Given the description of an element on the screen output the (x, y) to click on. 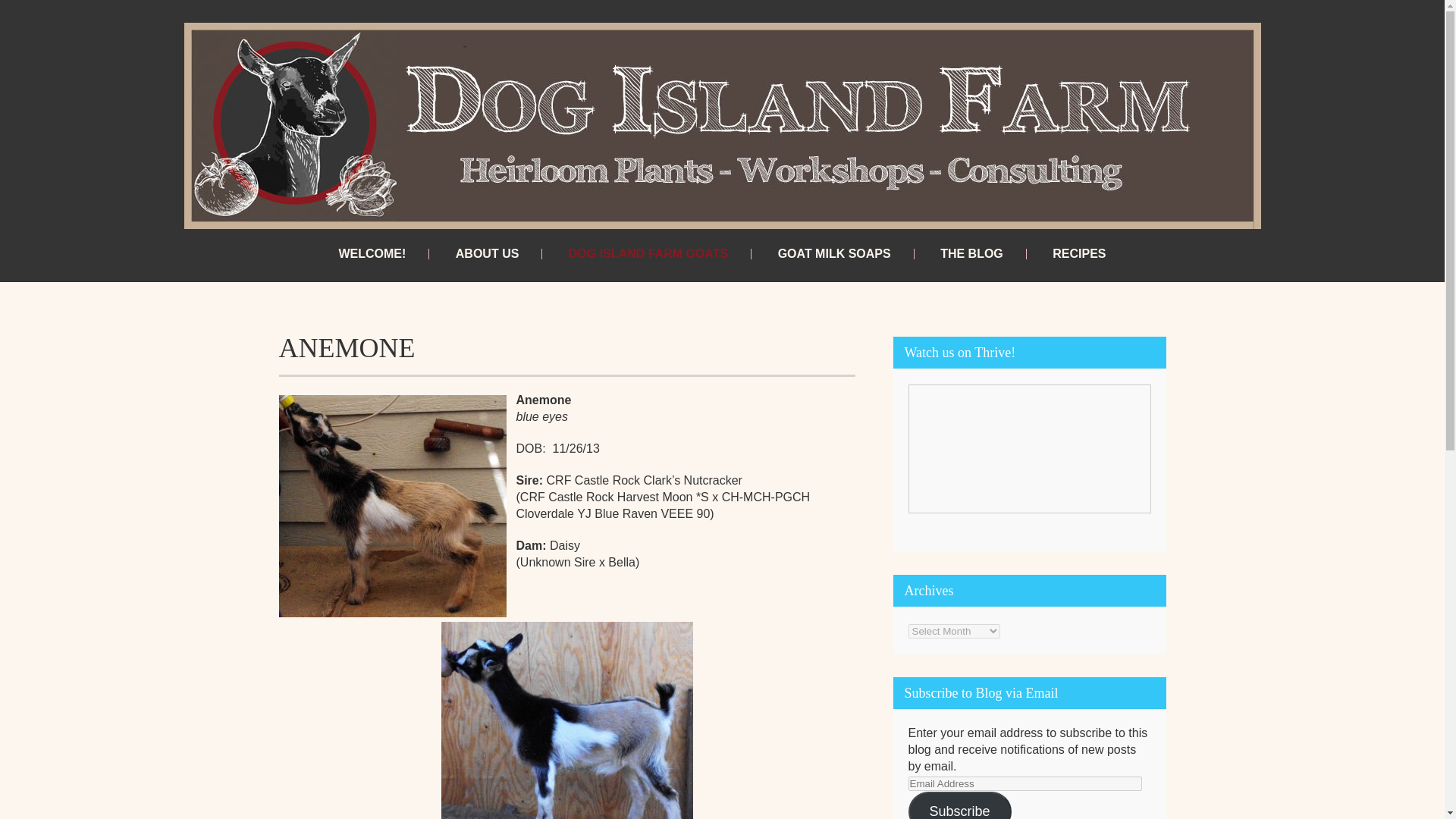
DOG ISLAND FARM GOATS (648, 253)
ABOUT US (486, 253)
WELCOME! (371, 253)
